Given the description of an element on the screen output the (x, y) to click on. 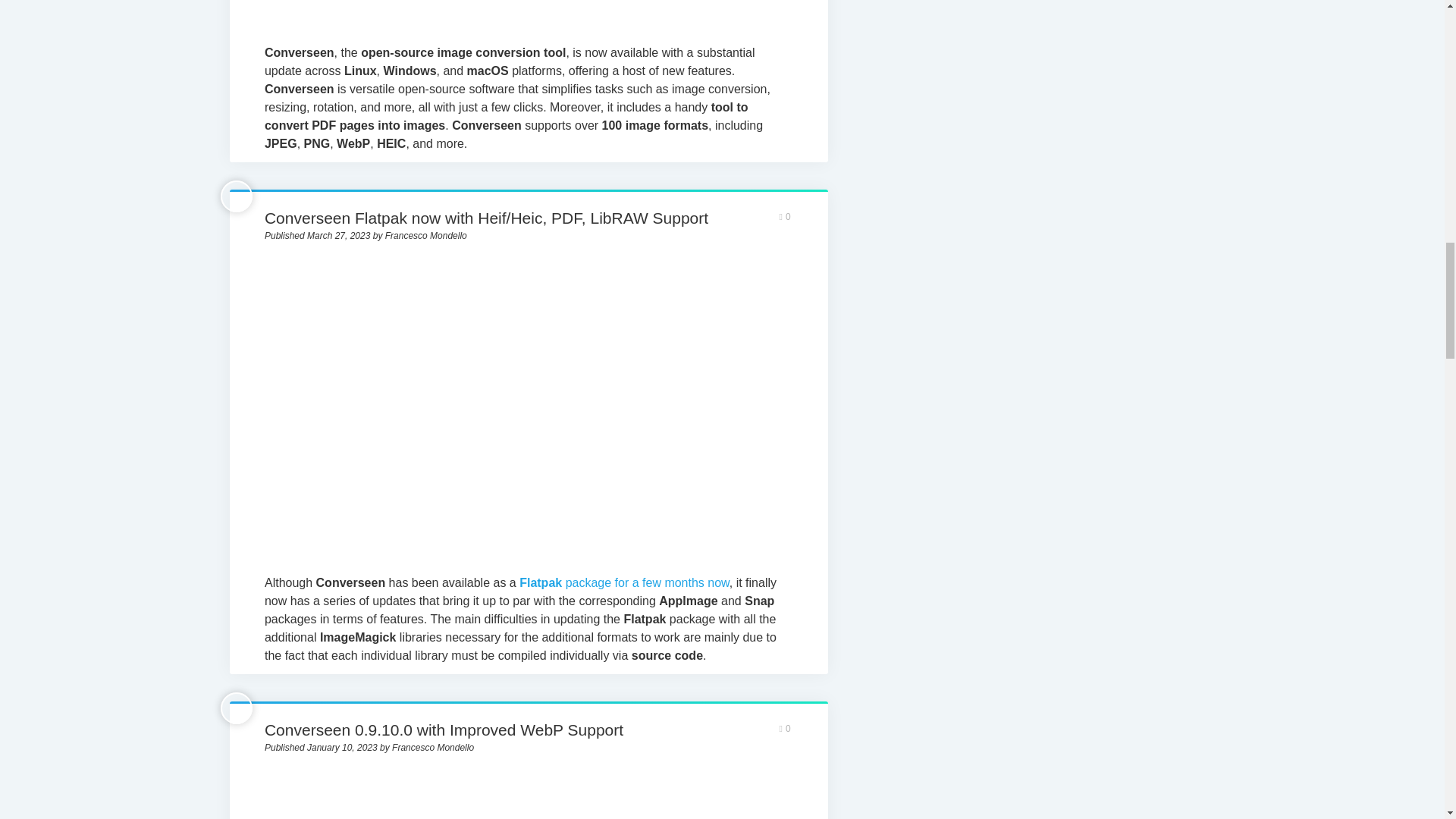
Converseen 0.9.10.0 with Improved WebP Support (528, 796)
Flatpak package for a few months now (624, 582)
Converseen 0.9.10.0 with Improved WebP Support (443, 729)
